Given the description of an element on the screen output the (x, y) to click on. 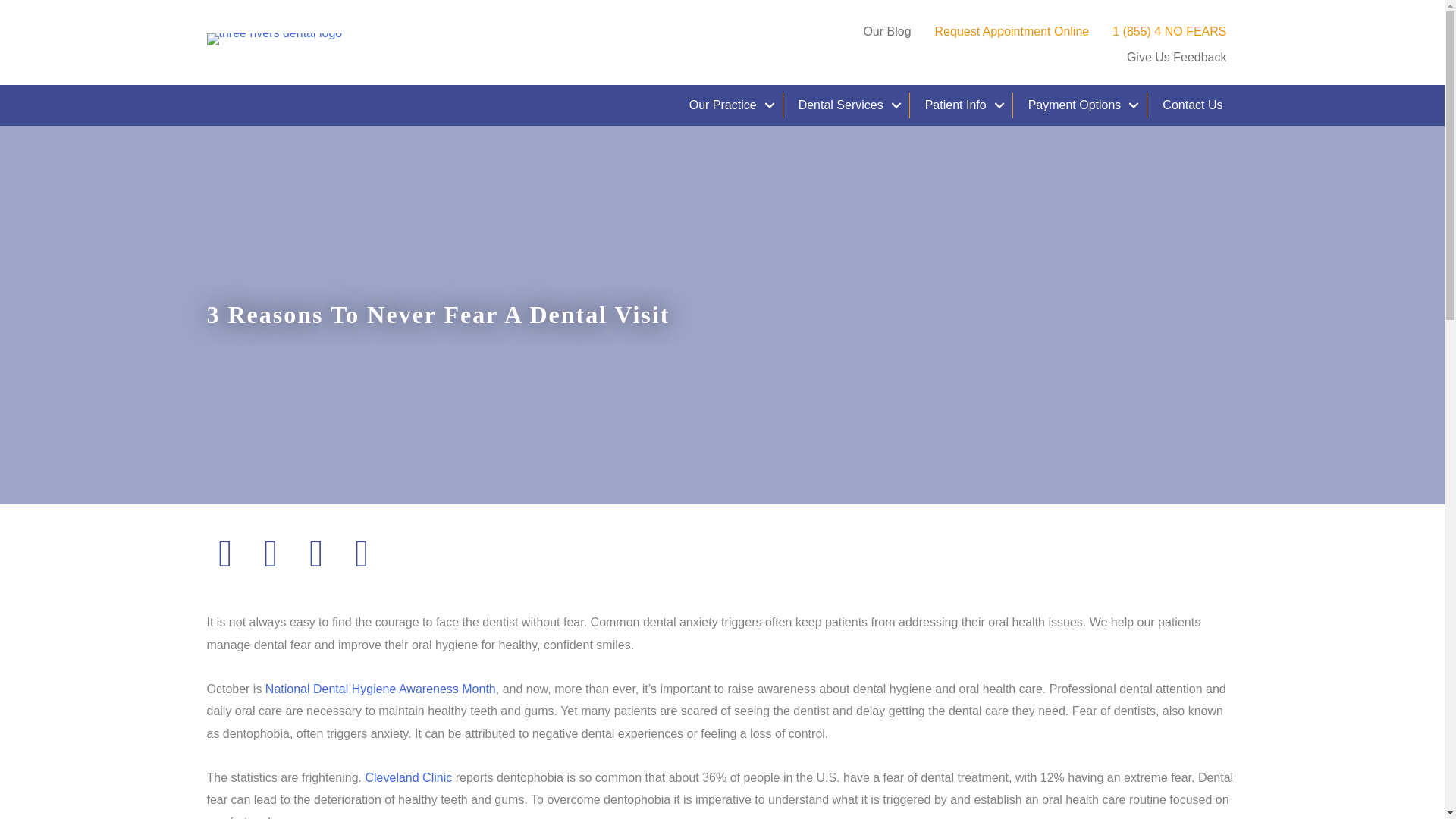
Contact Us (1192, 104)
Request Appointment Online (1011, 31)
Our Blog (886, 31)
Our Practice (728, 104)
Dental Services (845, 104)
Three-Rivers-Dental-Group (274, 39)
Patient Info (960, 104)
Give Us Feedback (1177, 57)
Payment Options (1080, 104)
